Given the description of an element on the screen output the (x, y) to click on. 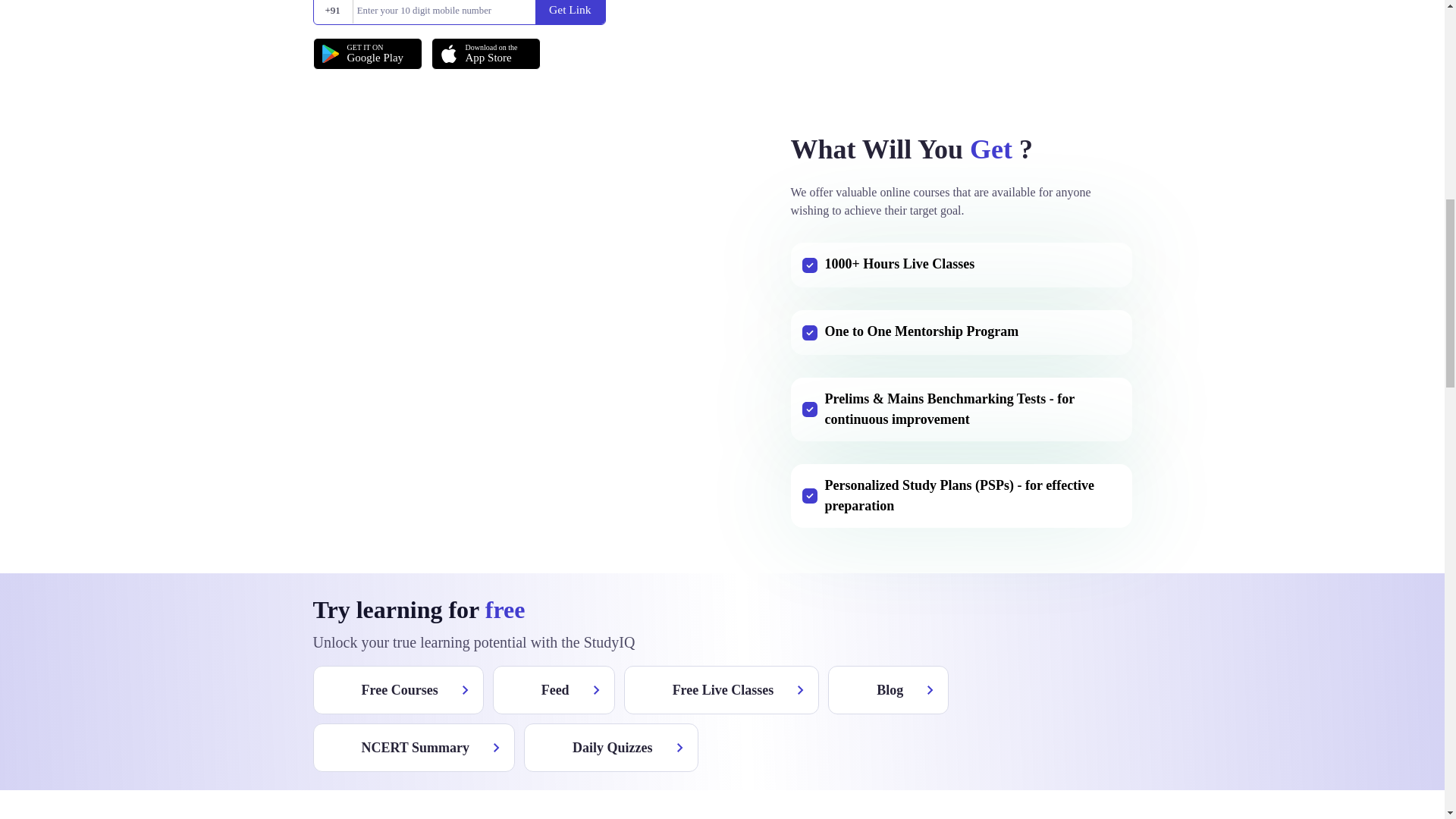
Free Courses (367, 53)
NCERT Summary (398, 689)
Get Link (414, 747)
Blog (570, 12)
Daily Quizzes (888, 689)
Feed (611, 747)
Free Live Classes (485, 53)
